Given the description of an element on the screen output the (x, y) to click on. 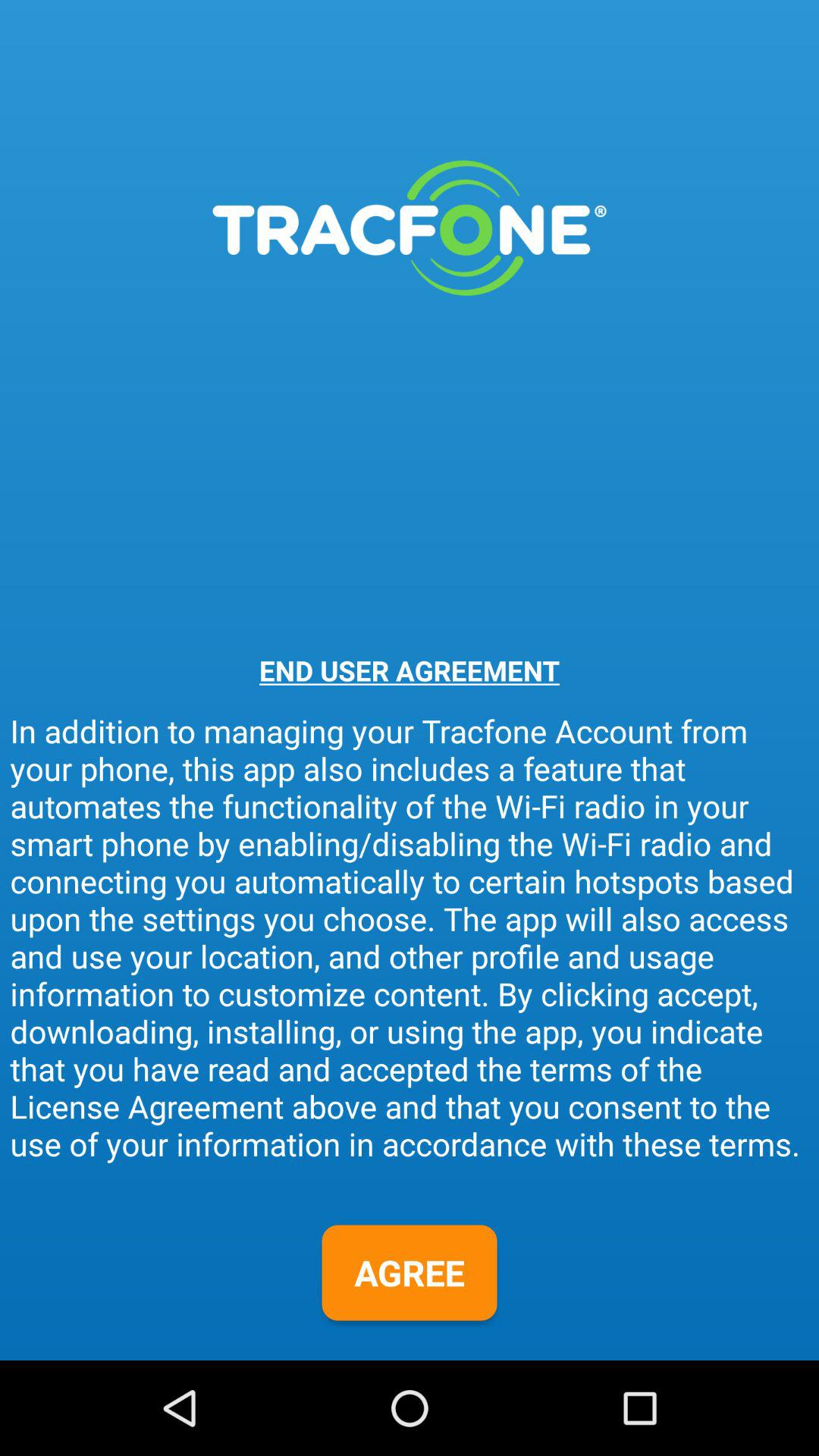
click the icon above in addition to item (409, 670)
